Given the description of an element on the screen output the (x, y) to click on. 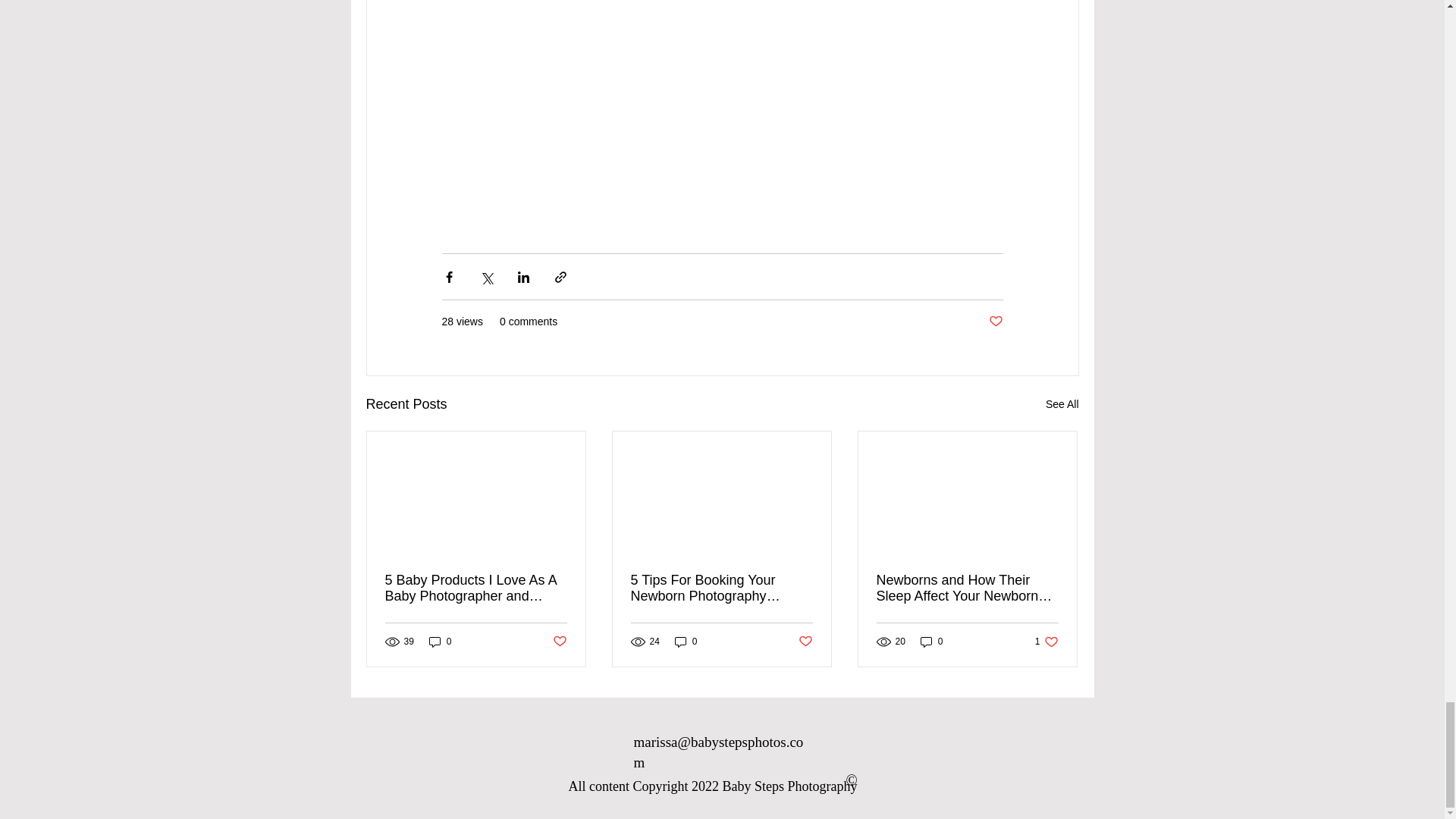
See All (1061, 404)
5 Baby Products I Love As A Baby Photographer and Mother (476, 588)
0 (1046, 641)
5 Tips For Booking Your Newborn Photography Session (931, 641)
0 (721, 588)
0 (440, 641)
Post not marked as liked (685, 641)
Post not marked as liked (804, 641)
